Given the description of an element on the screen output the (x, y) to click on. 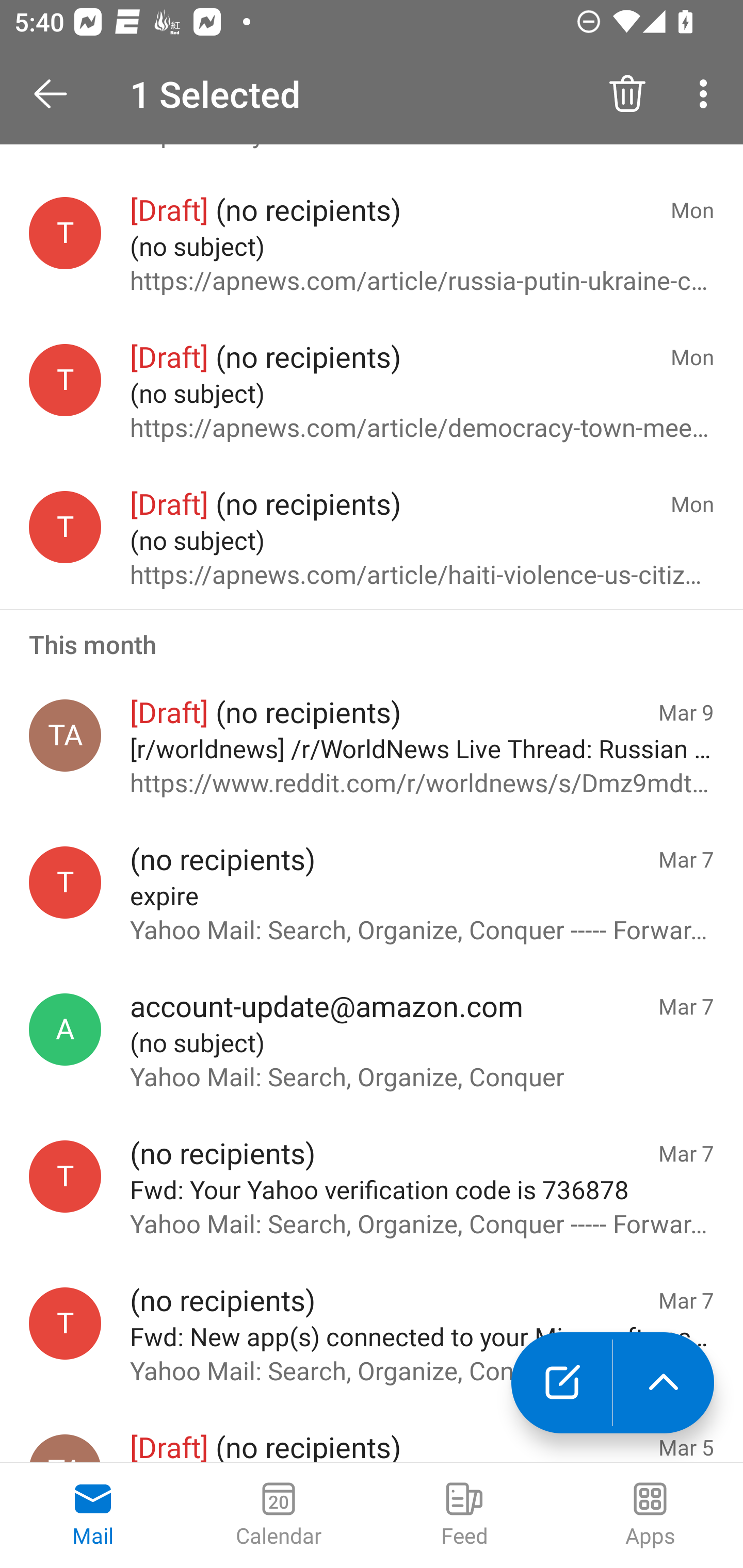
Delete (626, 93)
More options (706, 93)
Open Navigation Drawer (57, 94)
testappium002@outlook.com (64, 233)
testappium002@outlook.com (64, 379)
testappium002@outlook.com (64, 526)
Test Appium, testappium002@outlook.com (64, 735)
testappium002@outlook.com (64, 882)
testappium002@outlook.com (64, 1175)
testappium002@outlook.com (64, 1323)
New mail (561, 1382)
launch the extended action menu (663, 1382)
Calendar (278, 1515)
Feed (464, 1515)
Apps (650, 1515)
